Given the description of an element on the screen output the (x, y) to click on. 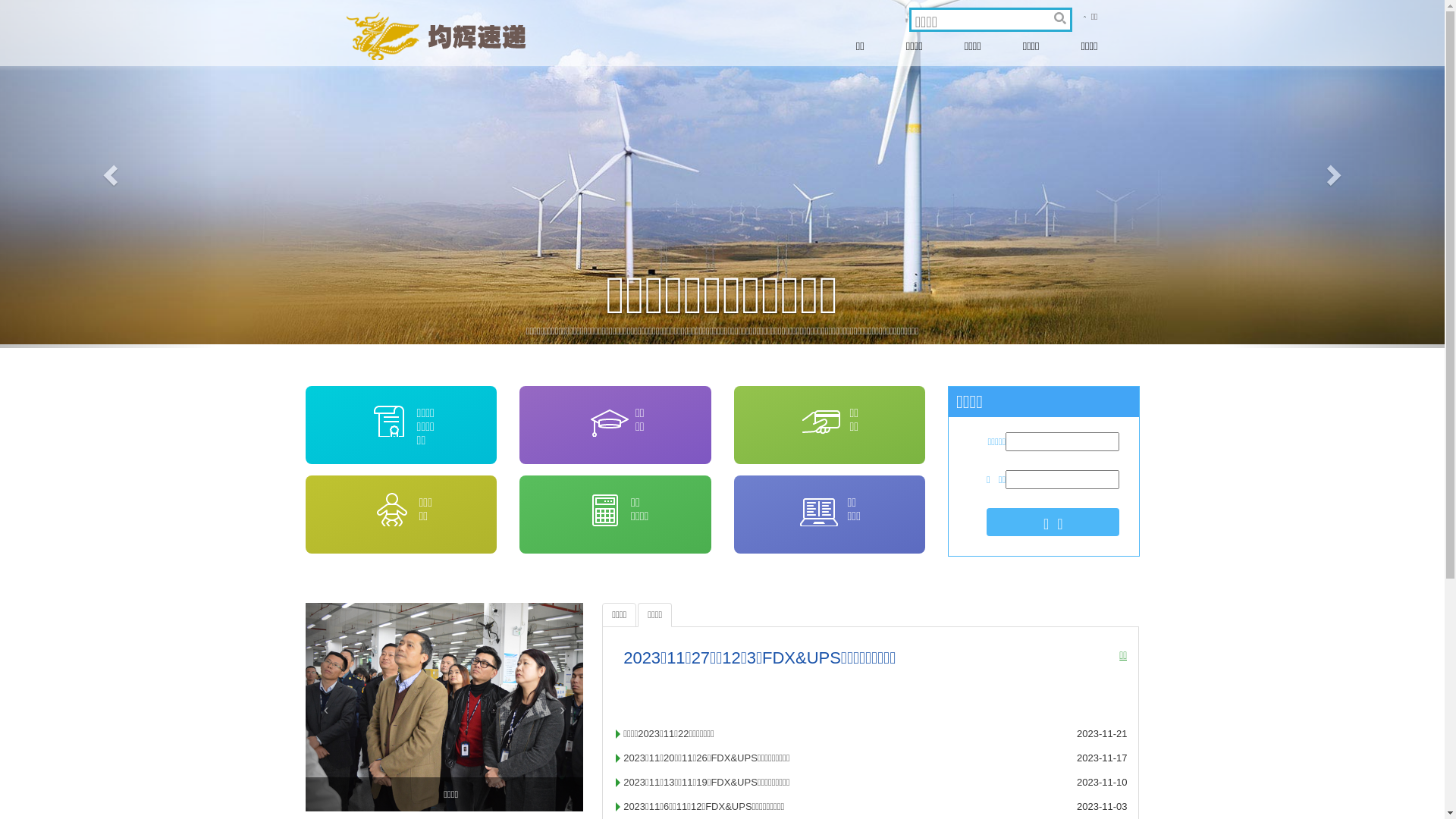
Next Element type: text (1335, 174)
search Element type: text (1059, 20)
Previous Element type: text (108, 174)
